Given the description of an element on the screen output the (x, y) to click on. 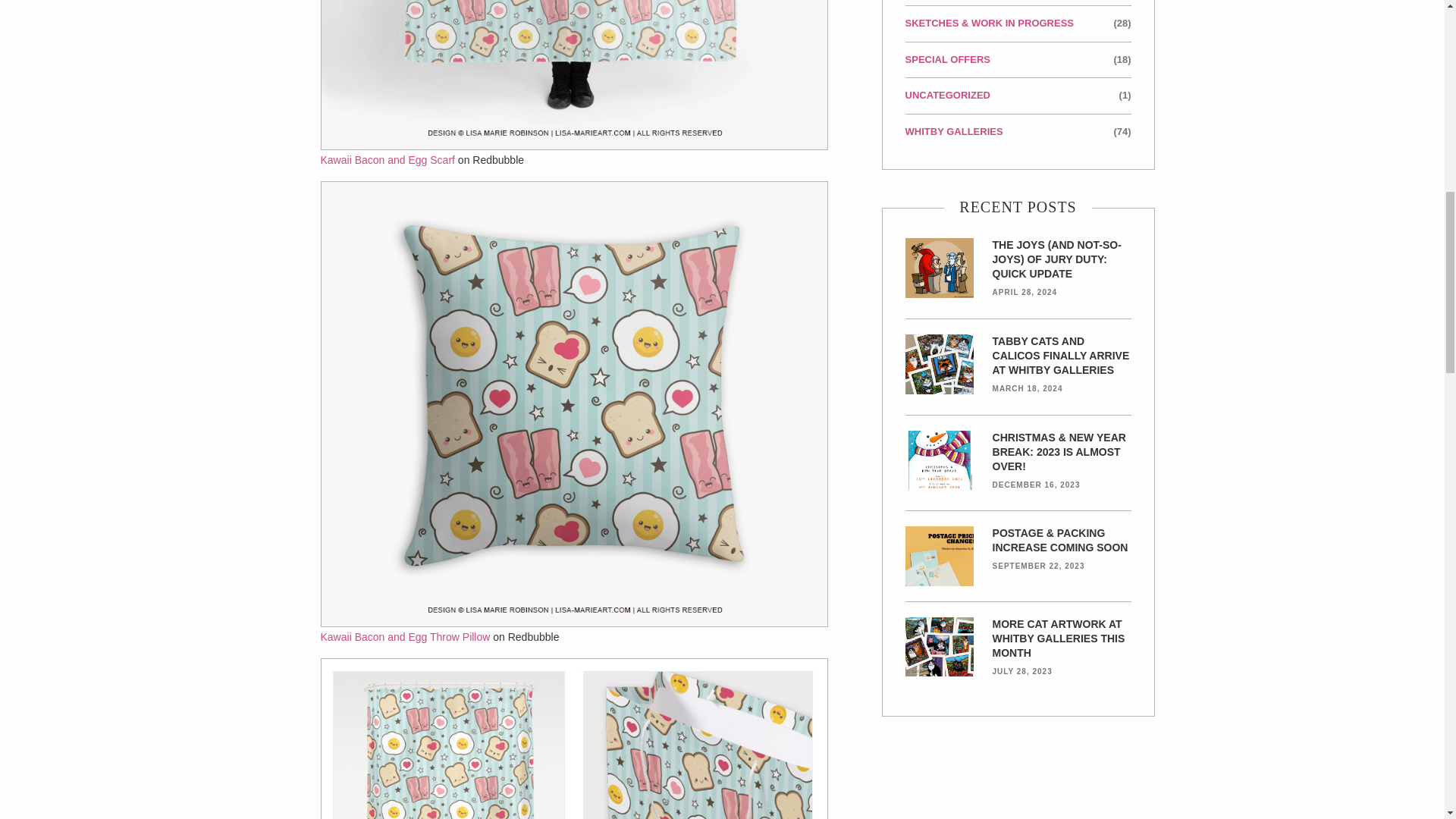
Kawaii Bacon and Egg Scarf (387, 159)
Kawaii Bacon and Egg Throw Pillow (404, 636)
